Given the description of an element on the screen output the (x, y) to click on. 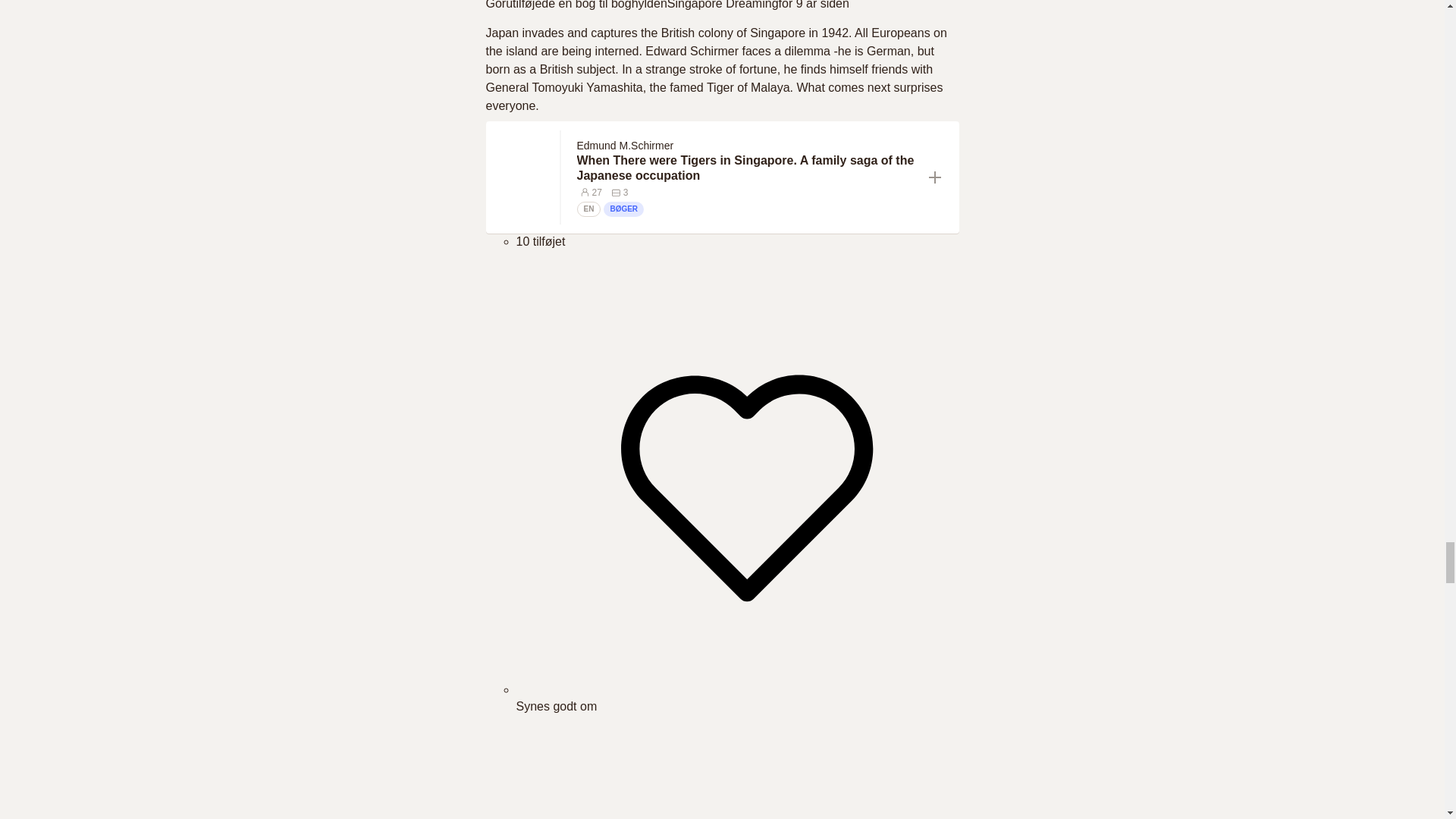
Edmund M.Schirmer (624, 145)
Singapore Dreaming (722, 4)
